Given the description of an element on the screen output the (x, y) to click on. 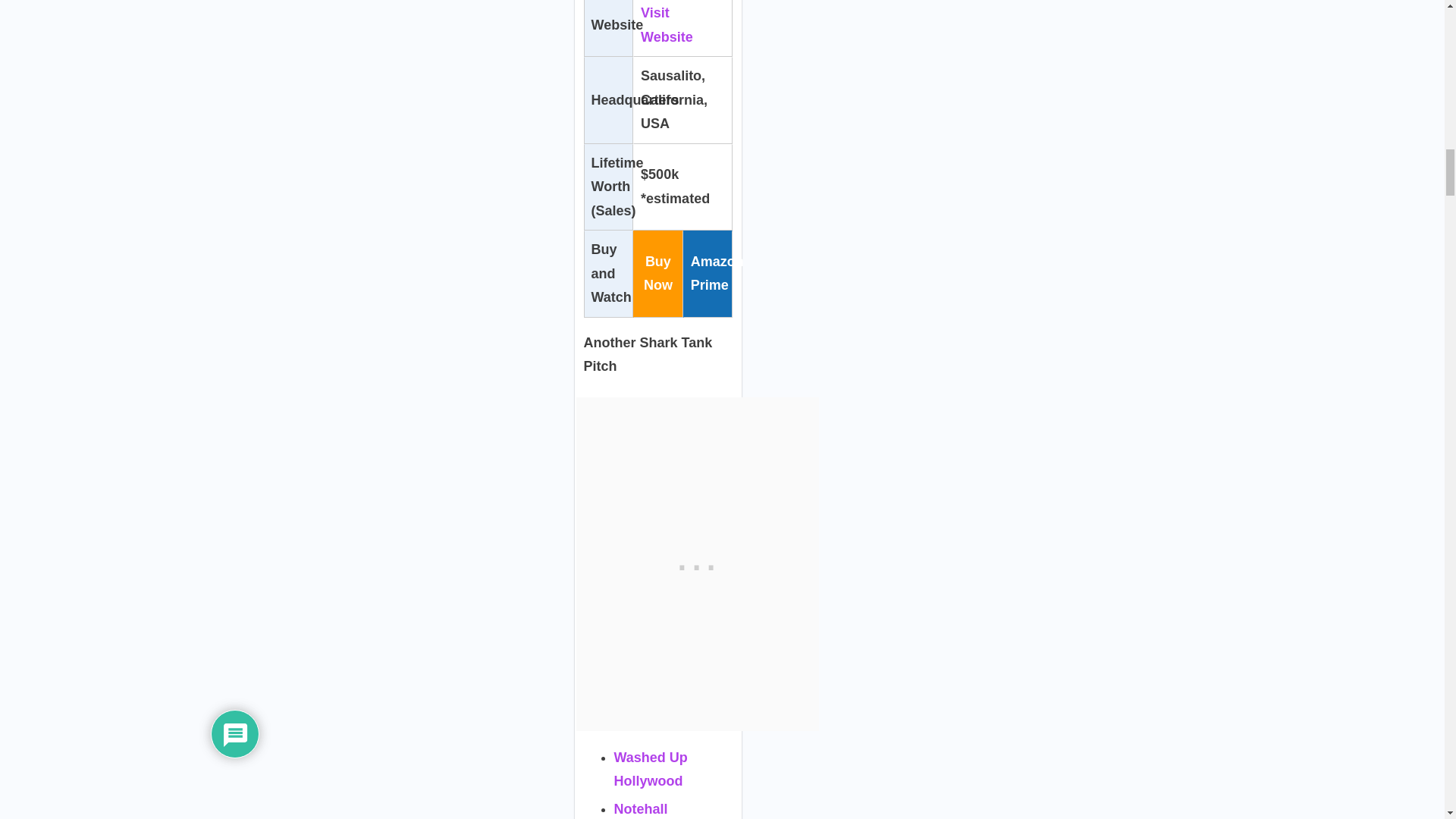
Visit Website (666, 24)
Washed Up Hollywood (650, 769)
Buy Now (657, 273)
Notehall (641, 808)
Amazon Prime (717, 273)
